Given the description of an element on the screen output the (x, y) to click on. 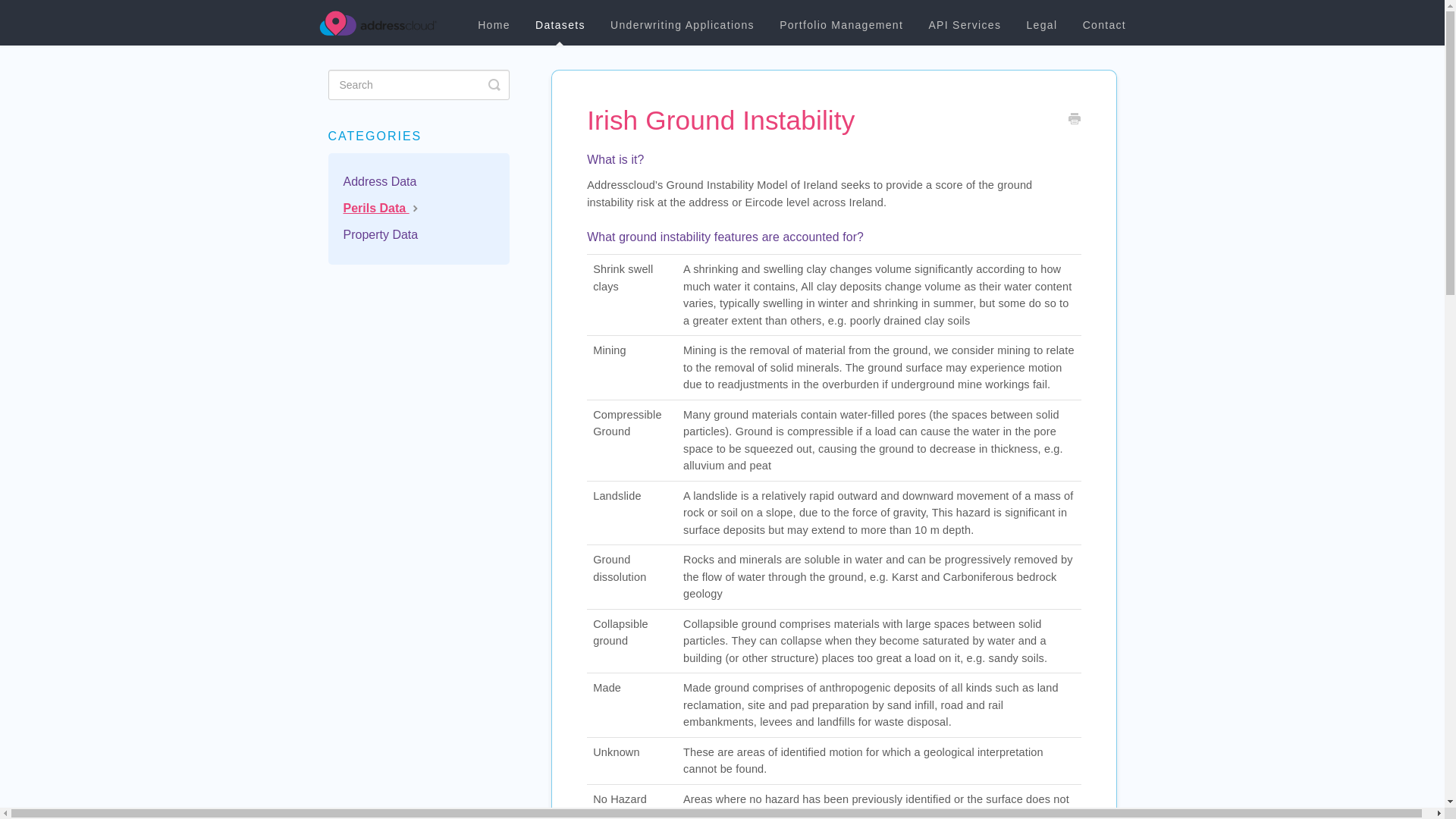
Contact (1104, 24)
Home (493, 24)
Perils Data (387, 208)
Property Data (385, 234)
Portfolio Management (841, 24)
API Services (964, 24)
Datasets (560, 24)
Legal (1041, 24)
Address Data (385, 181)
Underwriting Applications (681, 24)
